Given the description of an element on the screen output the (x, y) to click on. 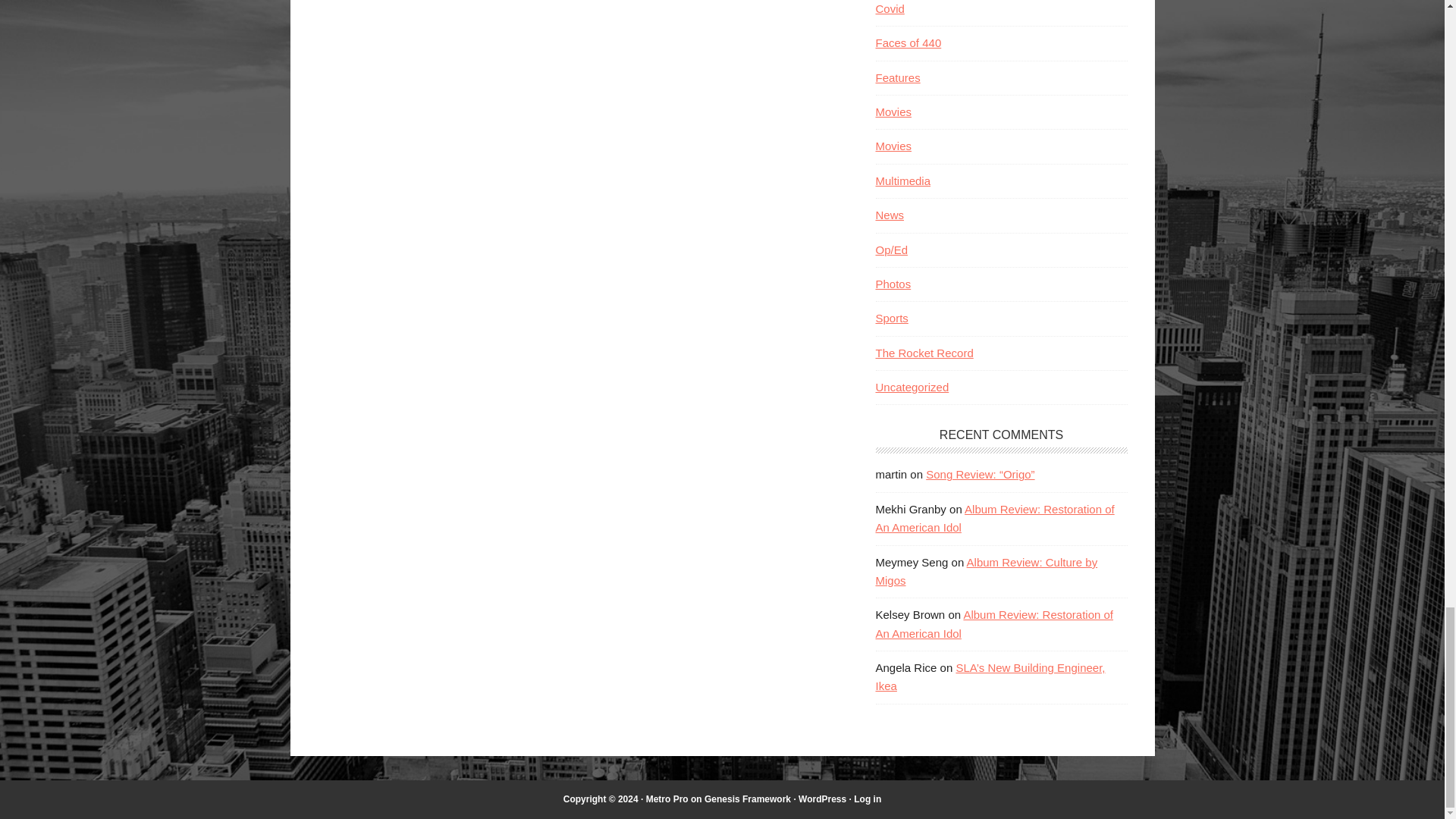
Movies (893, 145)
Covid (889, 8)
Faces of 440 (907, 42)
Movies (893, 111)
Features (897, 77)
